Given the description of an element on the screen output the (x, y) to click on. 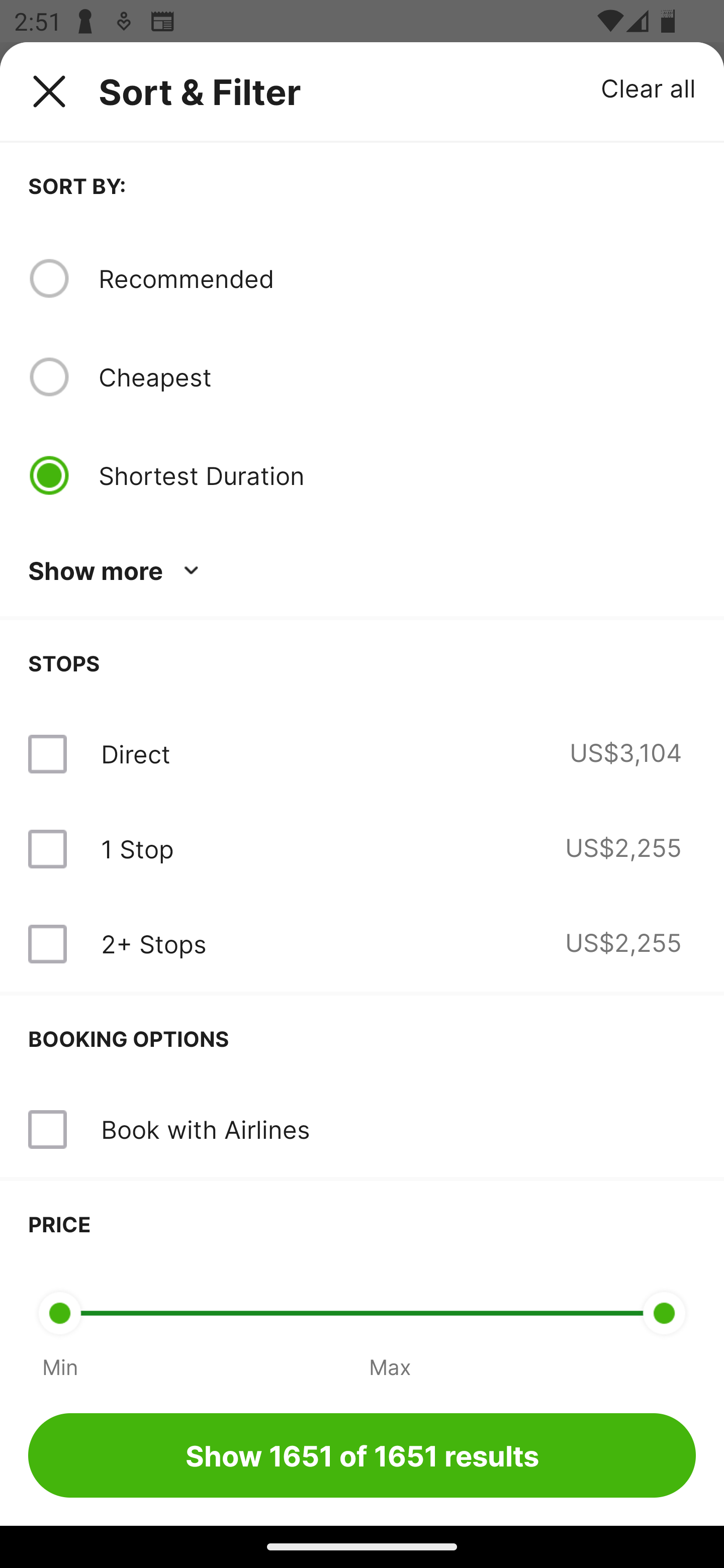
Clear all (648, 87)
Recommended  (396, 278)
Cheapest (396, 377)
Shortest Duration (396, 474)
Show more (116, 570)
Direct US$3,104 (362, 754)
Direct (135, 753)
1 Stop US$2,255 (362, 848)
1 Stop (136, 849)
2+ Stops US$2,255 (362, 943)
2+ Stops (153, 943)
Book with Airlines (362, 1129)
Book with Airlines (204, 1128)
Show 1651 of 1651 results (361, 1454)
